Given the description of an element on the screen output the (x, y) to click on. 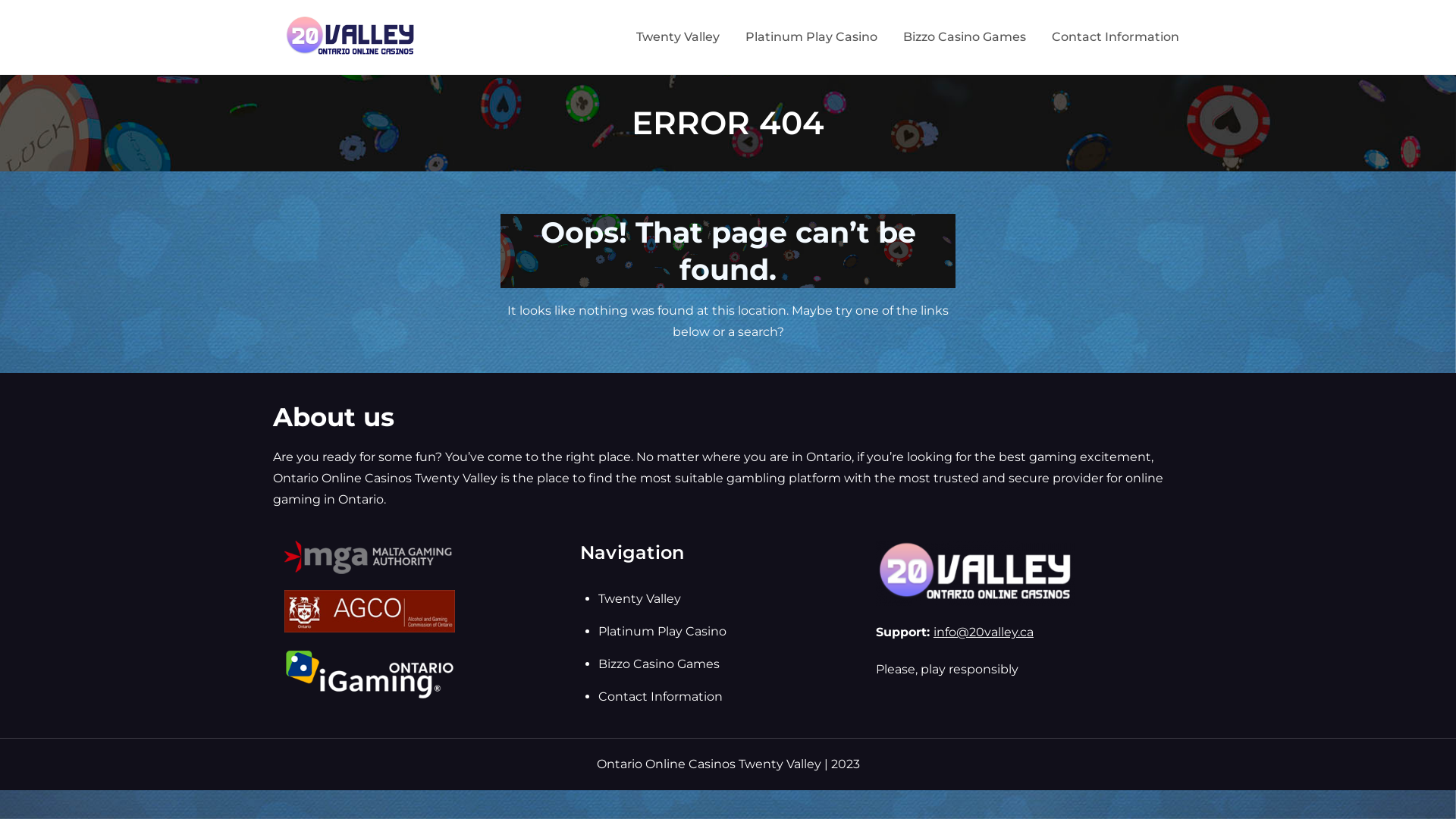
Twenty Valley Element type: text (639, 598)
Platinum Play Casino Element type: text (662, 631)
Bizzo Casino Games Element type: text (658, 663)
Contact Information Element type: text (1115, 36)
Ontario Online Casinos Twenty Valley Element type: text (587, 47)
info@20valley.ca Element type: text (983, 631)
Platinum Play Casino Element type: text (811, 36)
Contact Information Element type: text (660, 696)
Bizzo Casino Games Element type: text (964, 36)
Twenty Valley Element type: text (677, 36)
